Given the description of an element on the screen output the (x, y) to click on. 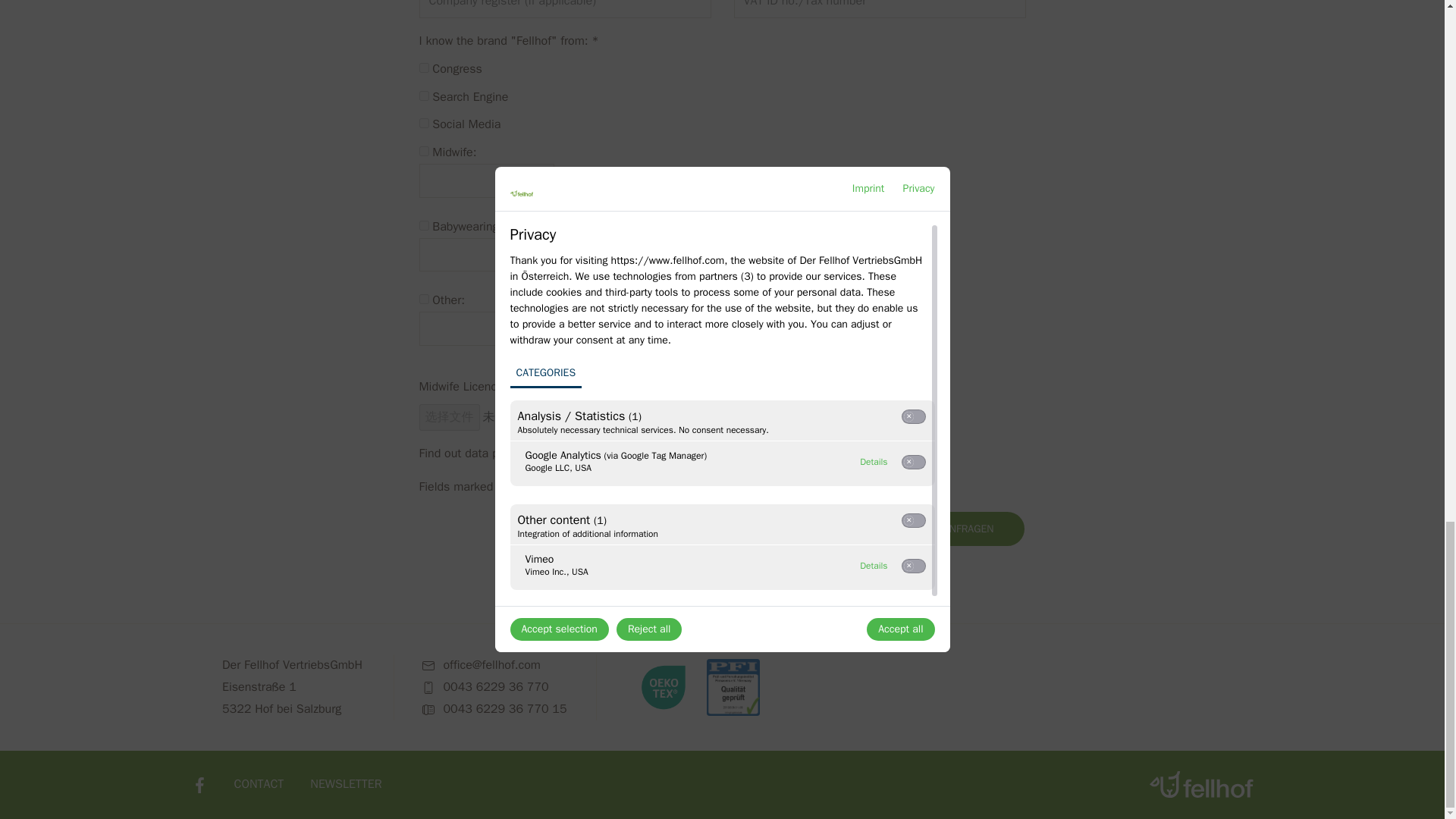
babywearingConsultant (423, 225)
suchmaschine (423, 95)
fachkongressMesse (423, 67)
socialMedia (423, 122)
midwives (423, 151)
